Given the description of an element on the screen output the (x, y) to click on. 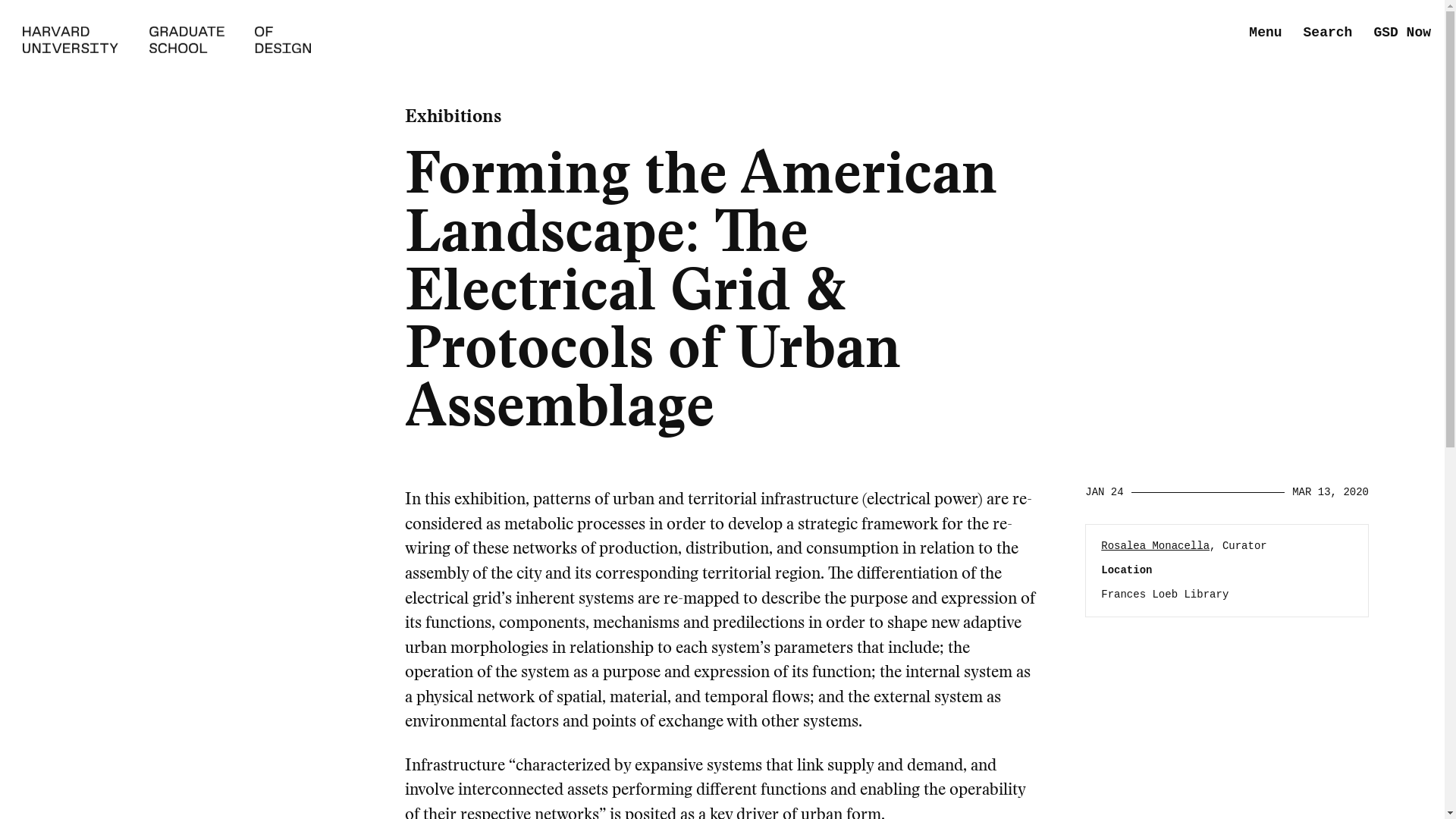
Search (1327, 32)
GSD Now (1402, 32)
Menu (1265, 32)
